Given the description of an element on the screen output the (x, y) to click on. 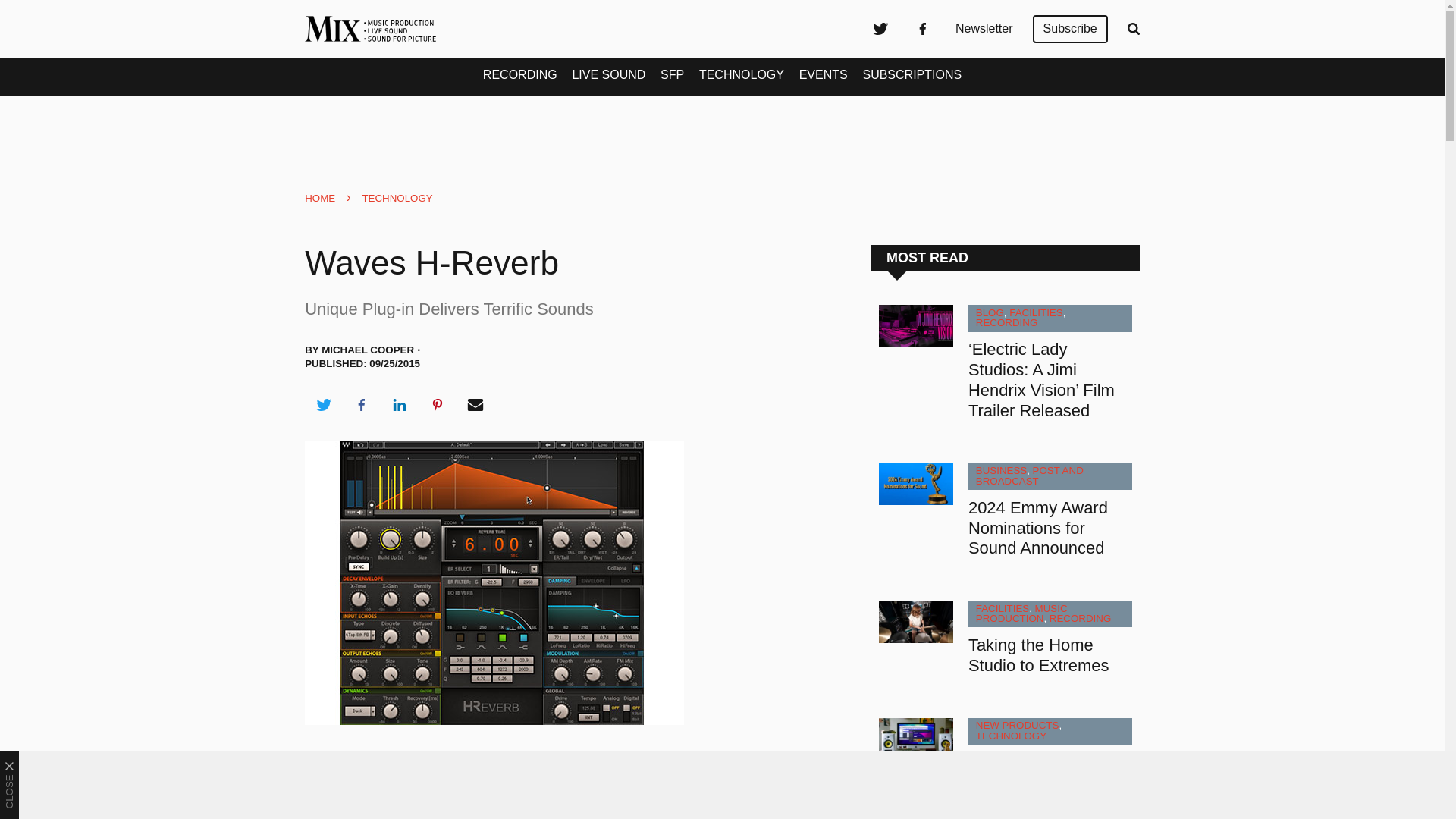
Share on LinkedIn (399, 404)
Share on Pinterest (438, 404)
Share on Facebook (361, 404)
Share on Twitter (323, 404)
Share via Email (476, 404)
